Given the description of an element on the screen output the (x, y) to click on. 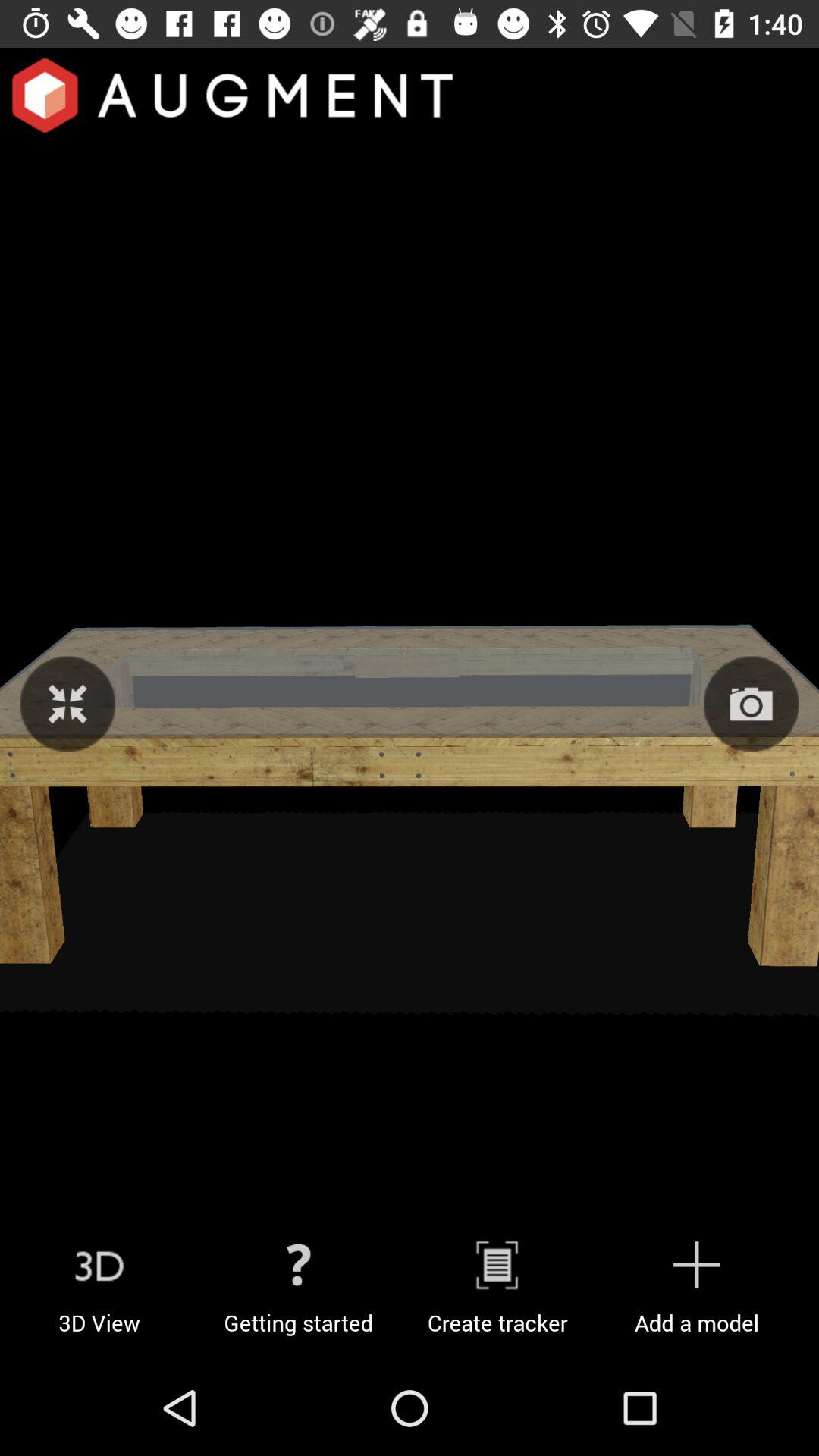
put on picture of camera (751, 703)
